Given the description of an element on the screen output the (x, y) to click on. 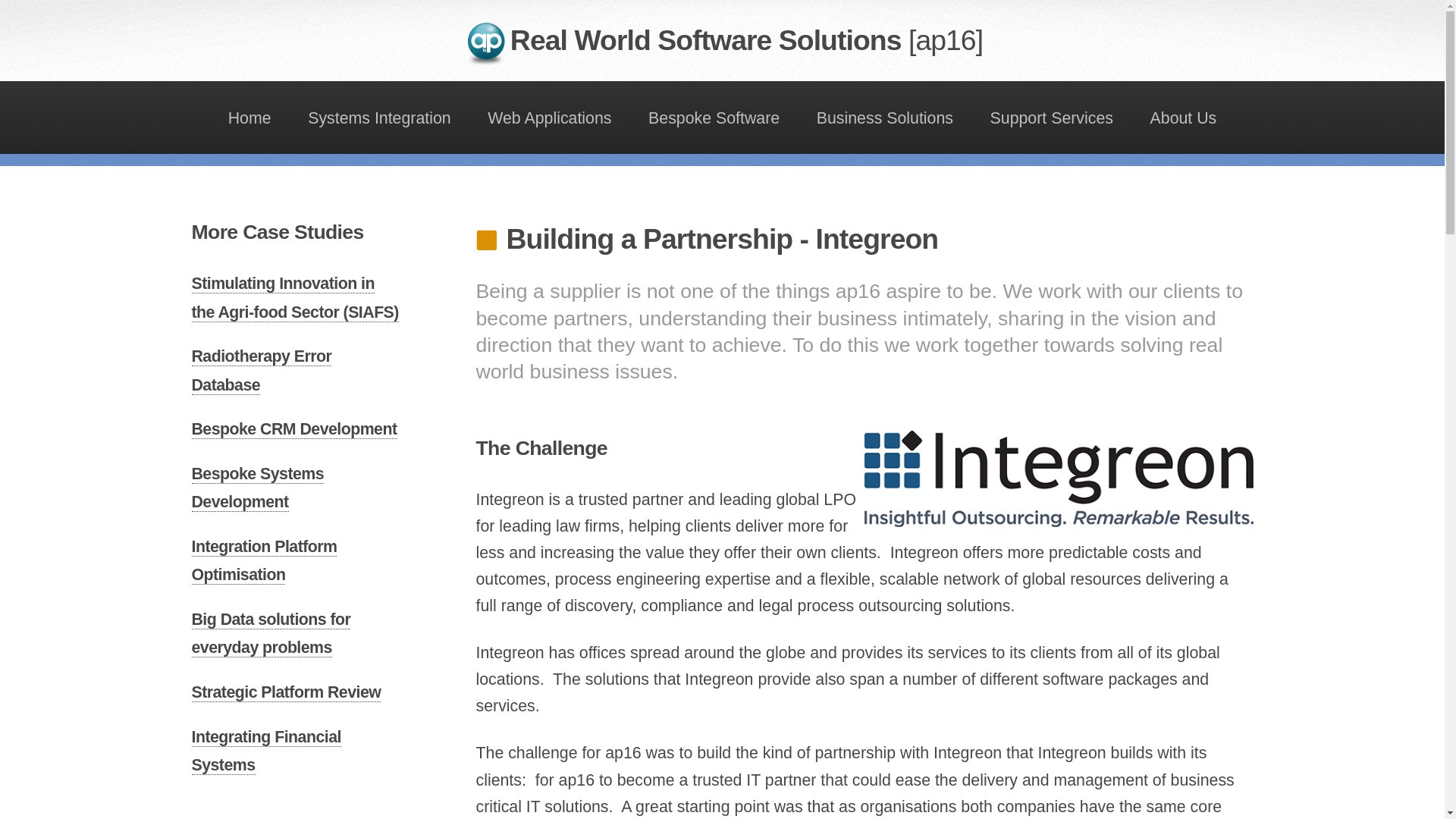
Bespoke CRM Development (293, 429)
Support Services (1051, 117)
Integrating Financial Systems (265, 751)
Radiotherapy Error Database (260, 370)
Big Data solutions for everyday problems (270, 633)
Integration Platform Optimisation (263, 560)
Systems Integration (379, 117)
Web Applications (550, 117)
About Us (1182, 117)
Business Solutions (884, 117)
